Given the description of an element on the screen output the (x, y) to click on. 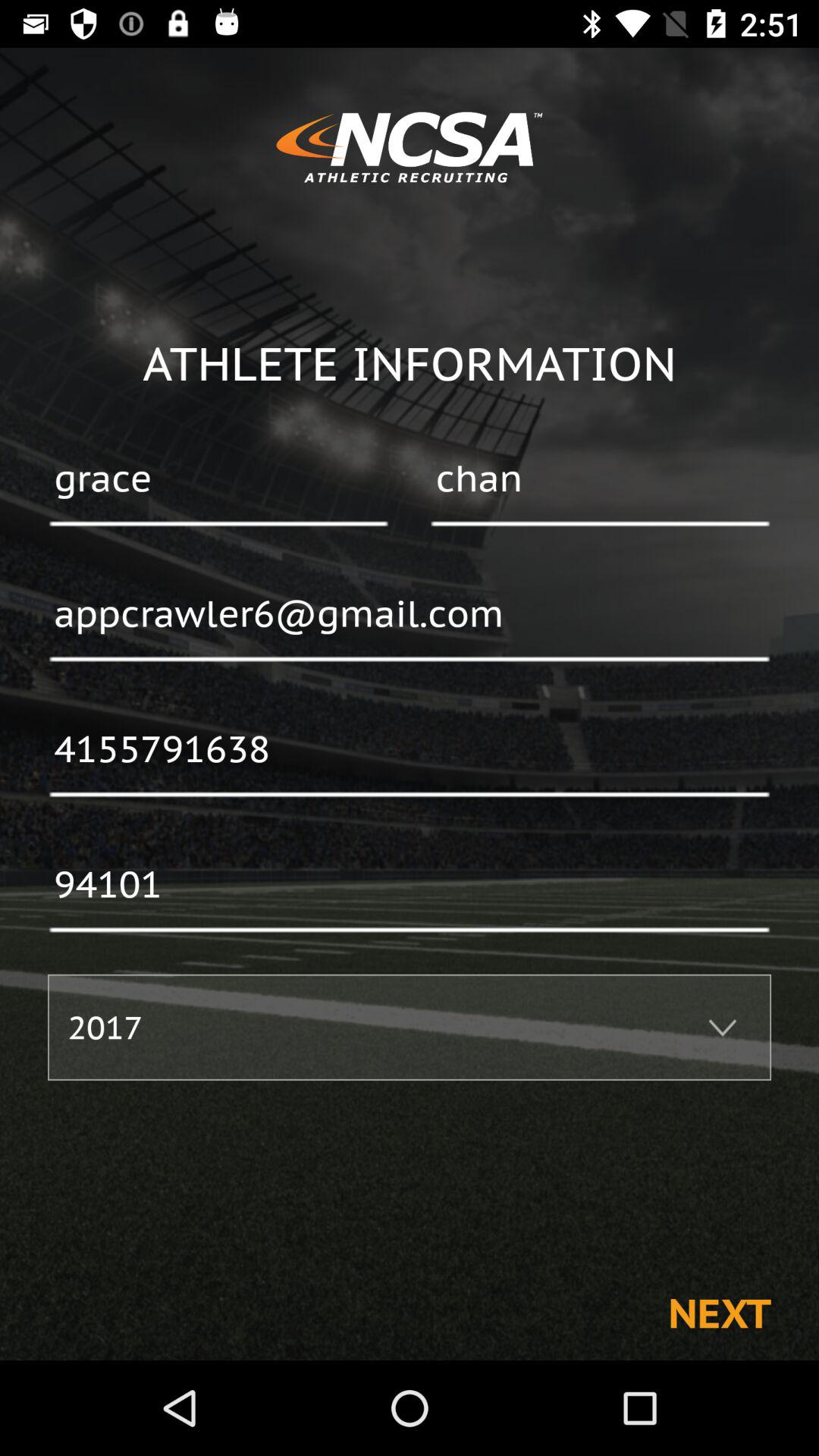
tap icon at the top left corner (218, 479)
